Given the description of an element on the screen output the (x, y) to click on. 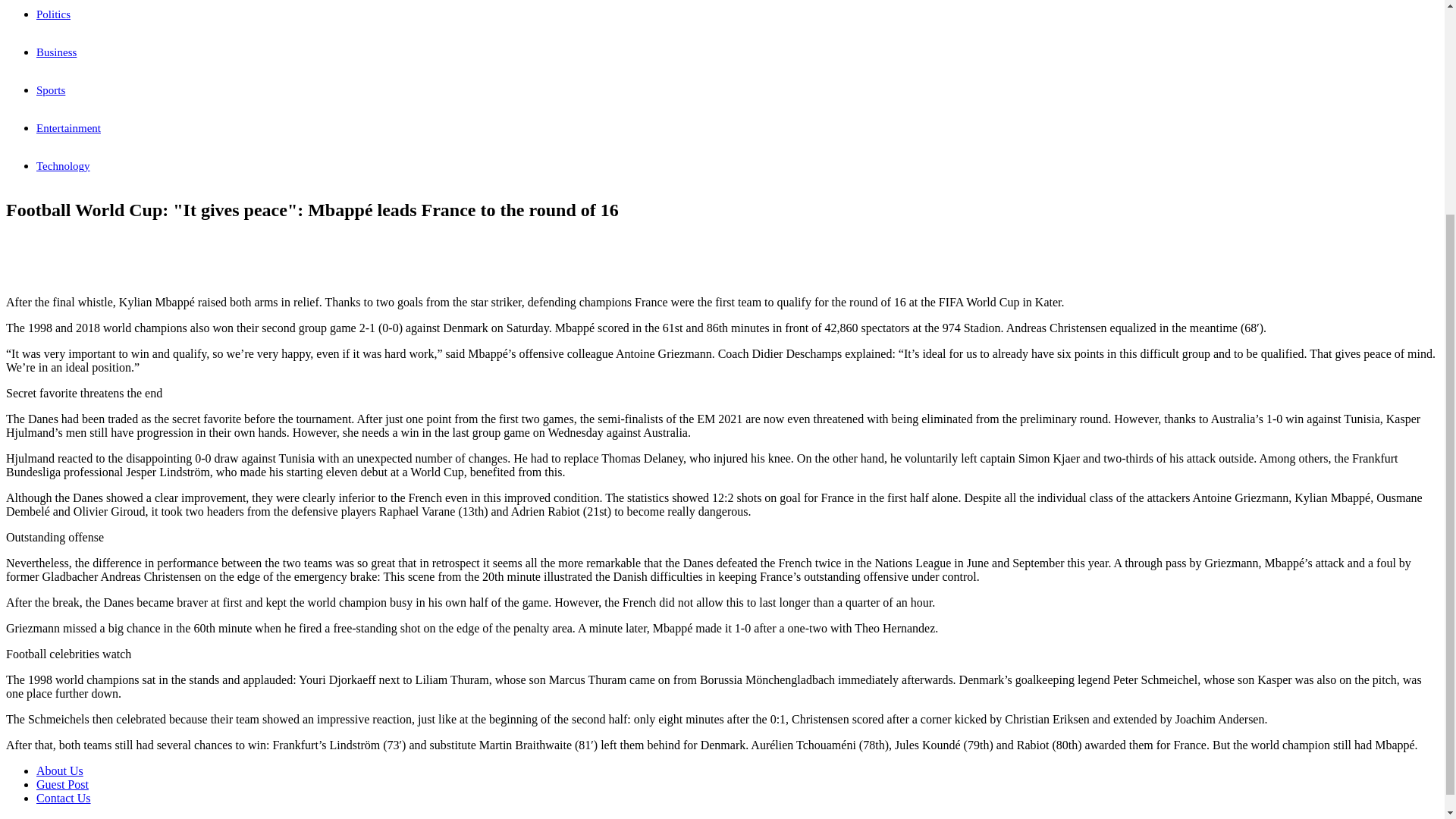
Business (56, 51)
About Us (59, 770)
Guest Post (62, 784)
Sports (50, 90)
Politics (52, 14)
Contact Us (63, 797)
Entertainment (68, 128)
Technology (63, 165)
